Given the description of an element on the screen output the (x, y) to click on. 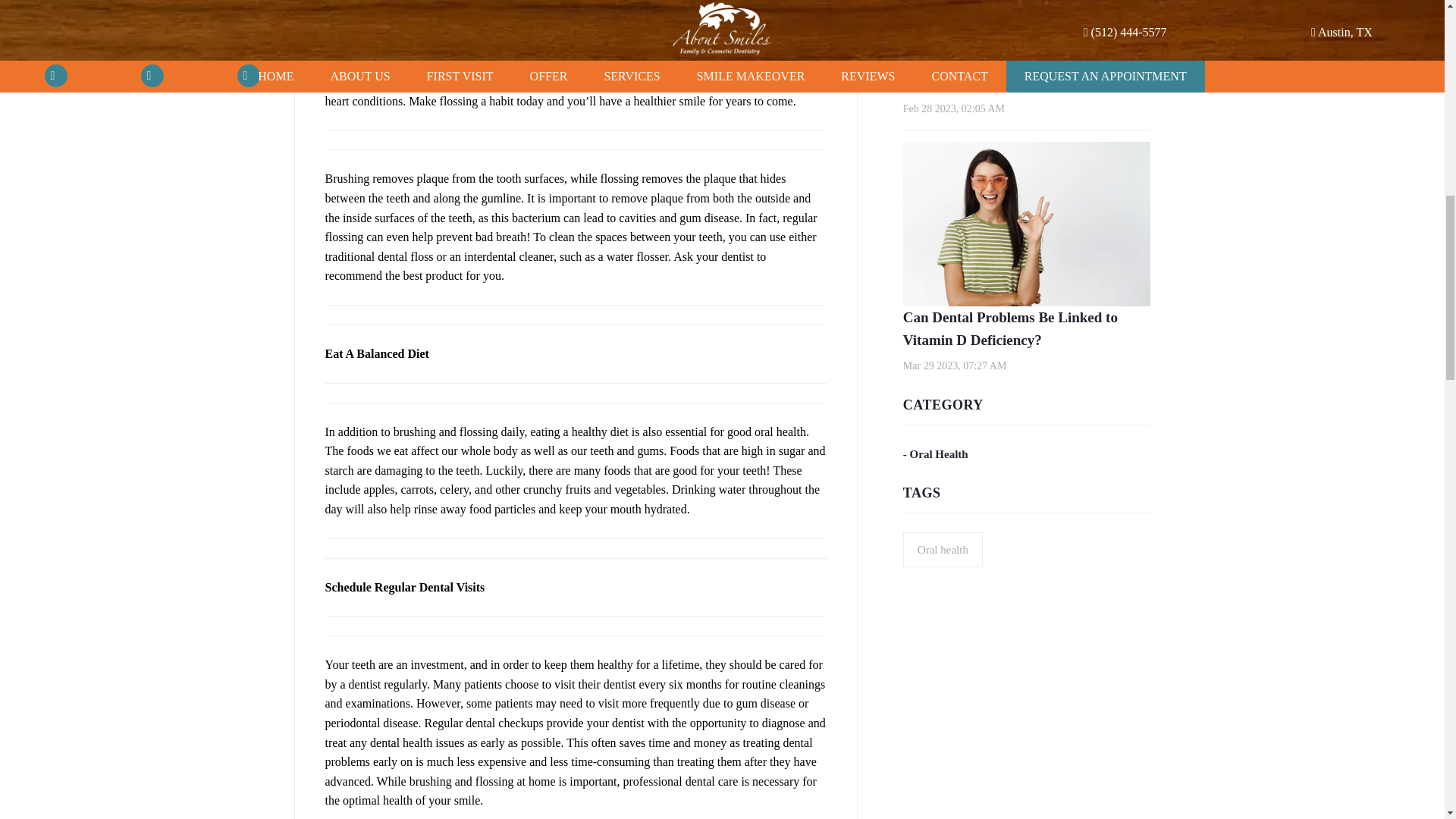
Image related to a dental practice called About Smiles (1026, 36)
Image related to a dental practice called About Smiles (1026, 224)
